Given the description of an element on the screen output the (x, y) to click on. 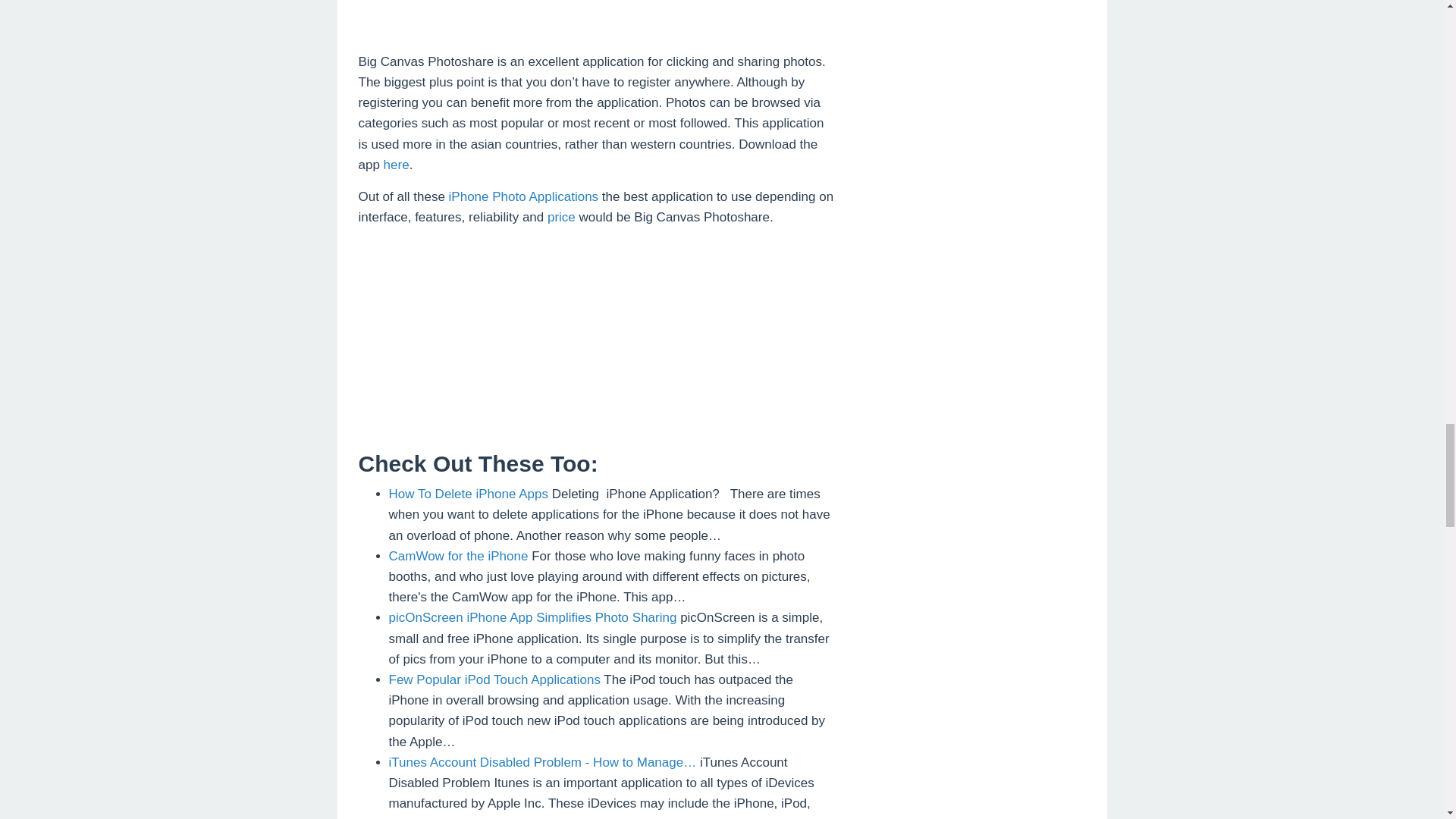
Big Canvas Photoshare (596, 13)
